Given the description of an element on the screen output the (x, y) to click on. 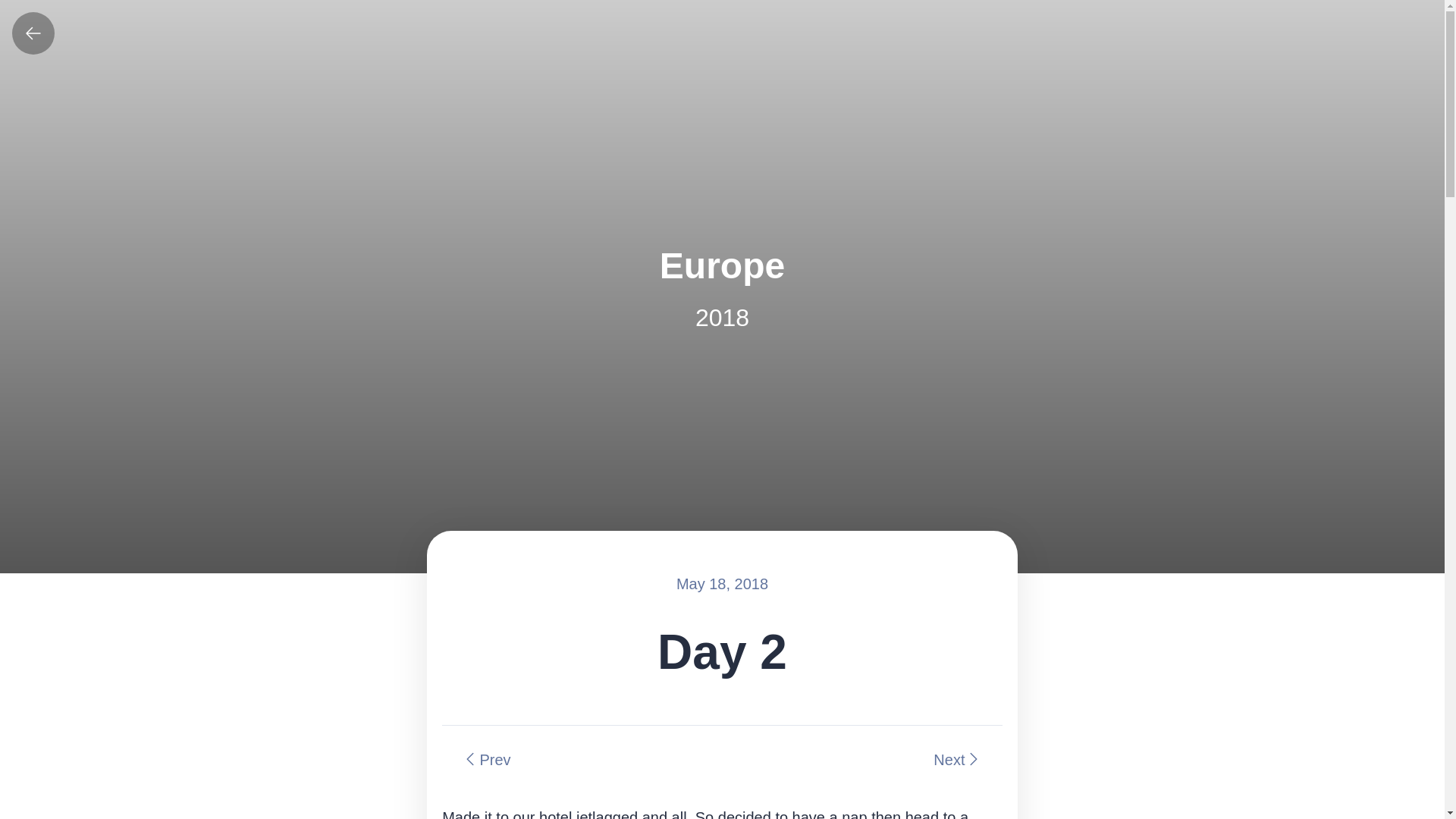
Prev (582, 758)
Next (861, 758)
